Given the description of an element on the screen output the (x, y) to click on. 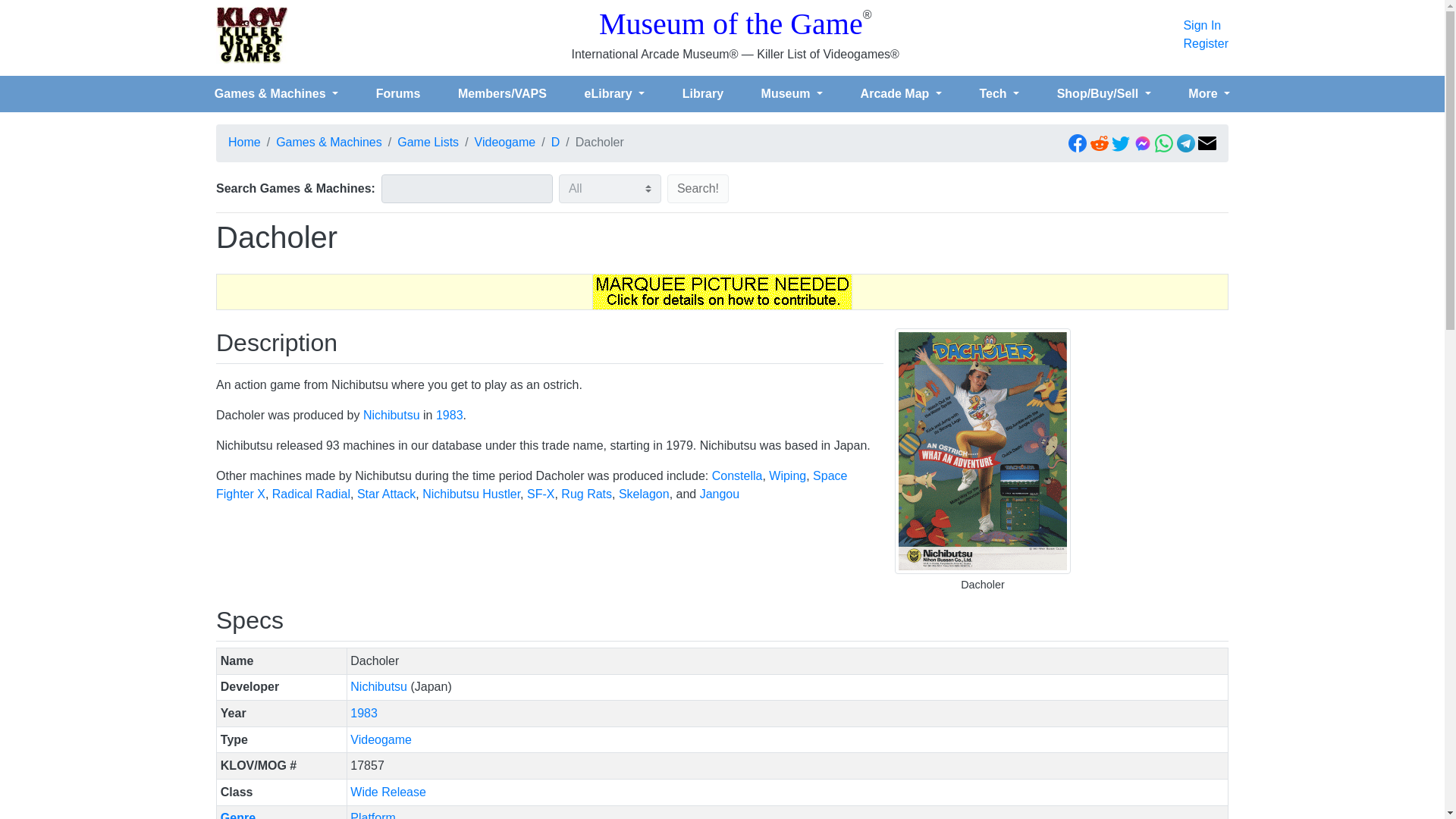
eLibrary (614, 93)
Sign In (1205, 25)
Register (1205, 44)
Forums (397, 93)
